Given the description of an element on the screen output the (x, y) to click on. 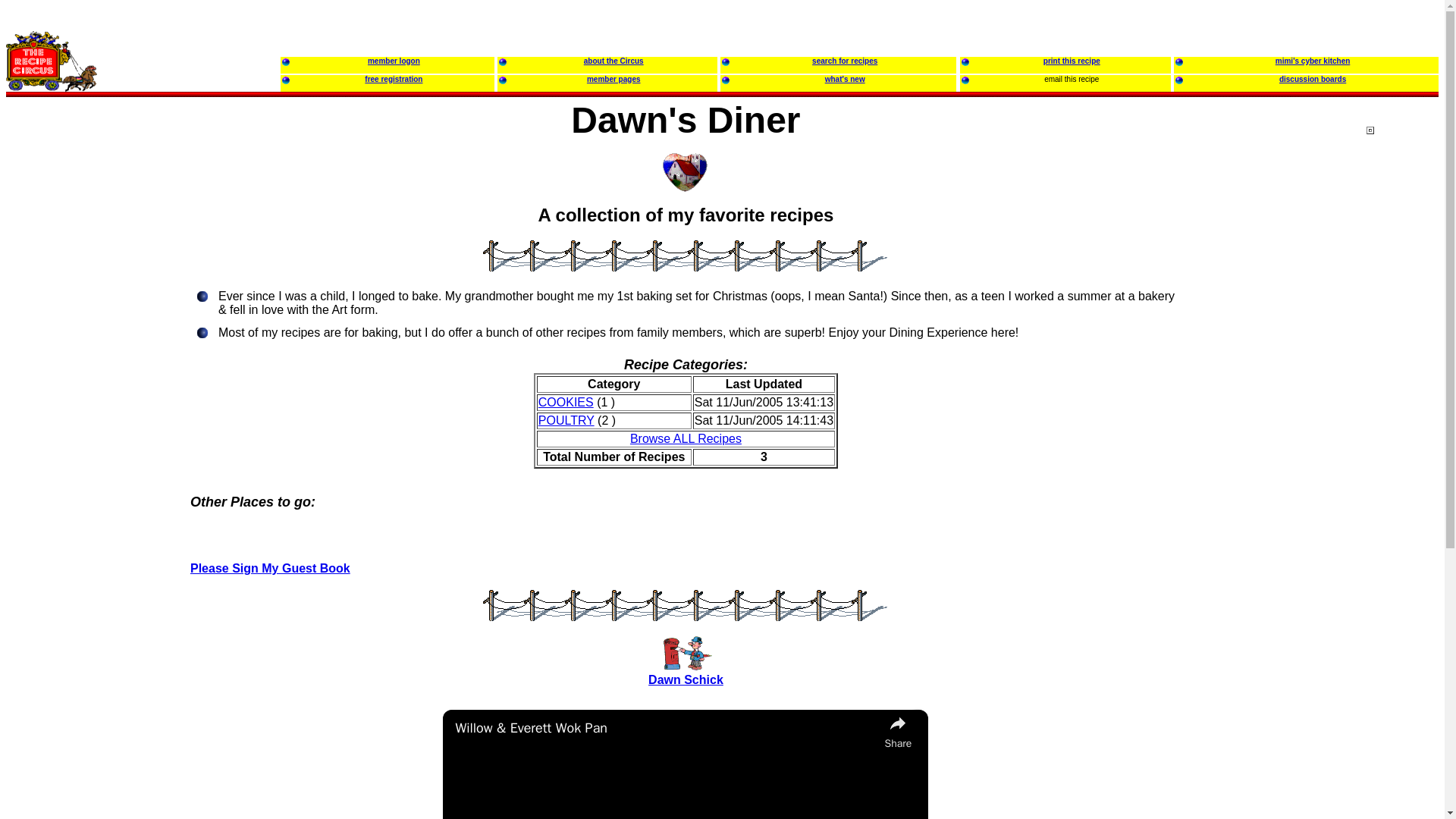
print this recipe (1071, 59)
discussion boards (1312, 77)
Please Sign My Guest Book (270, 567)
member pages (613, 77)
member logon (394, 59)
free registration (393, 77)
mimi's cyber kitchen (1313, 59)
Dawn Schick (685, 679)
Browse ALL Recipes (685, 438)
what's new (844, 77)
POULTRY (566, 420)
COOKIES (566, 401)
search for recipes (844, 59)
about the Circus (613, 59)
